Given the description of an element on the screen output the (x, y) to click on. 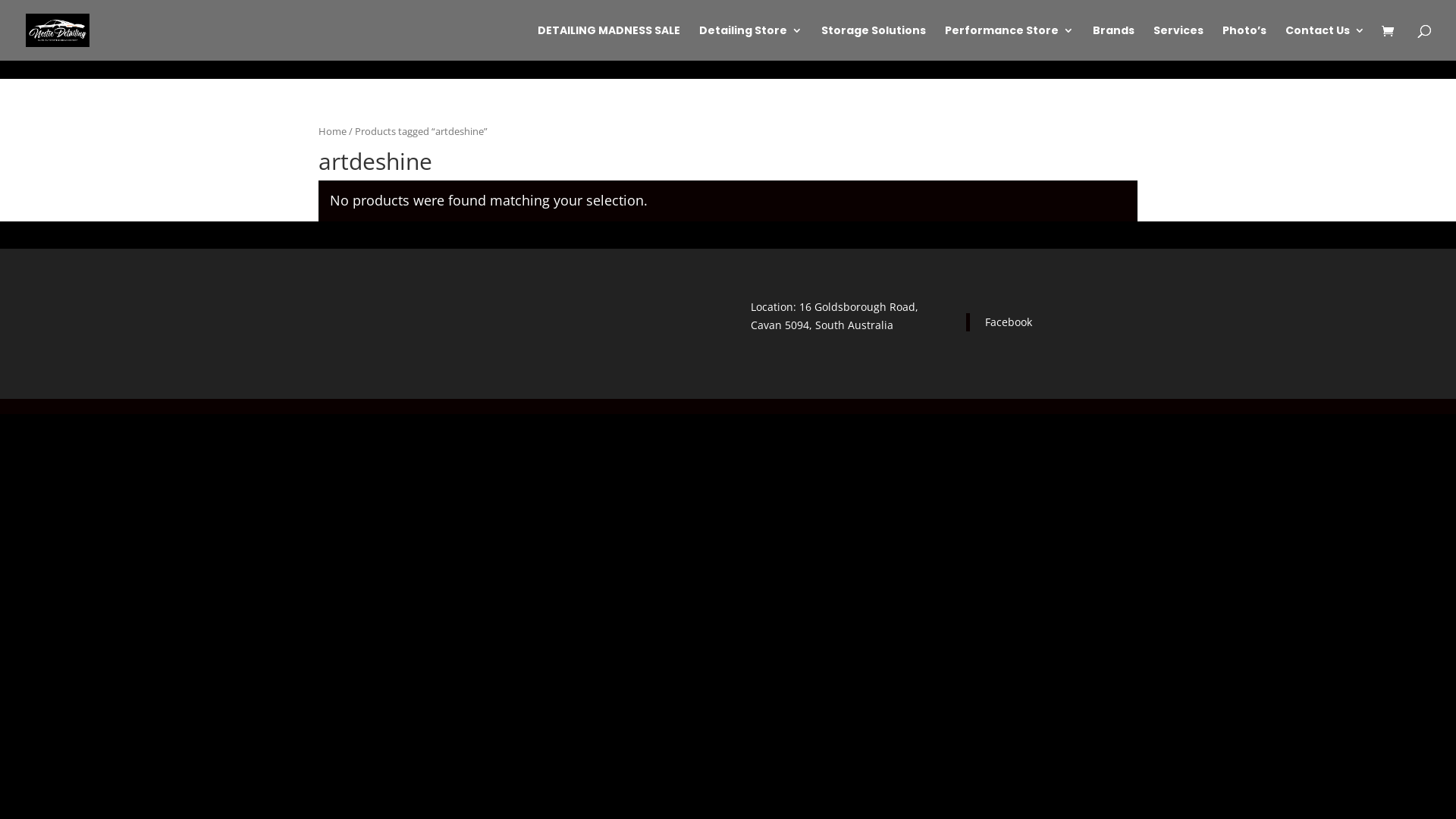
Performance Store Element type: text (1008, 42)
Brands Element type: text (1113, 42)
Facebook Element type: text (1008, 321)
Contact Us Element type: text (1325, 42)
DETAILING MADNESS SALE Element type: text (608, 42)
Services Element type: text (1178, 42)
Storage Solutions Element type: text (873, 42)
Home Element type: text (332, 131)
Detailing Store Element type: text (750, 42)
